Given the description of an element on the screen output the (x, y) to click on. 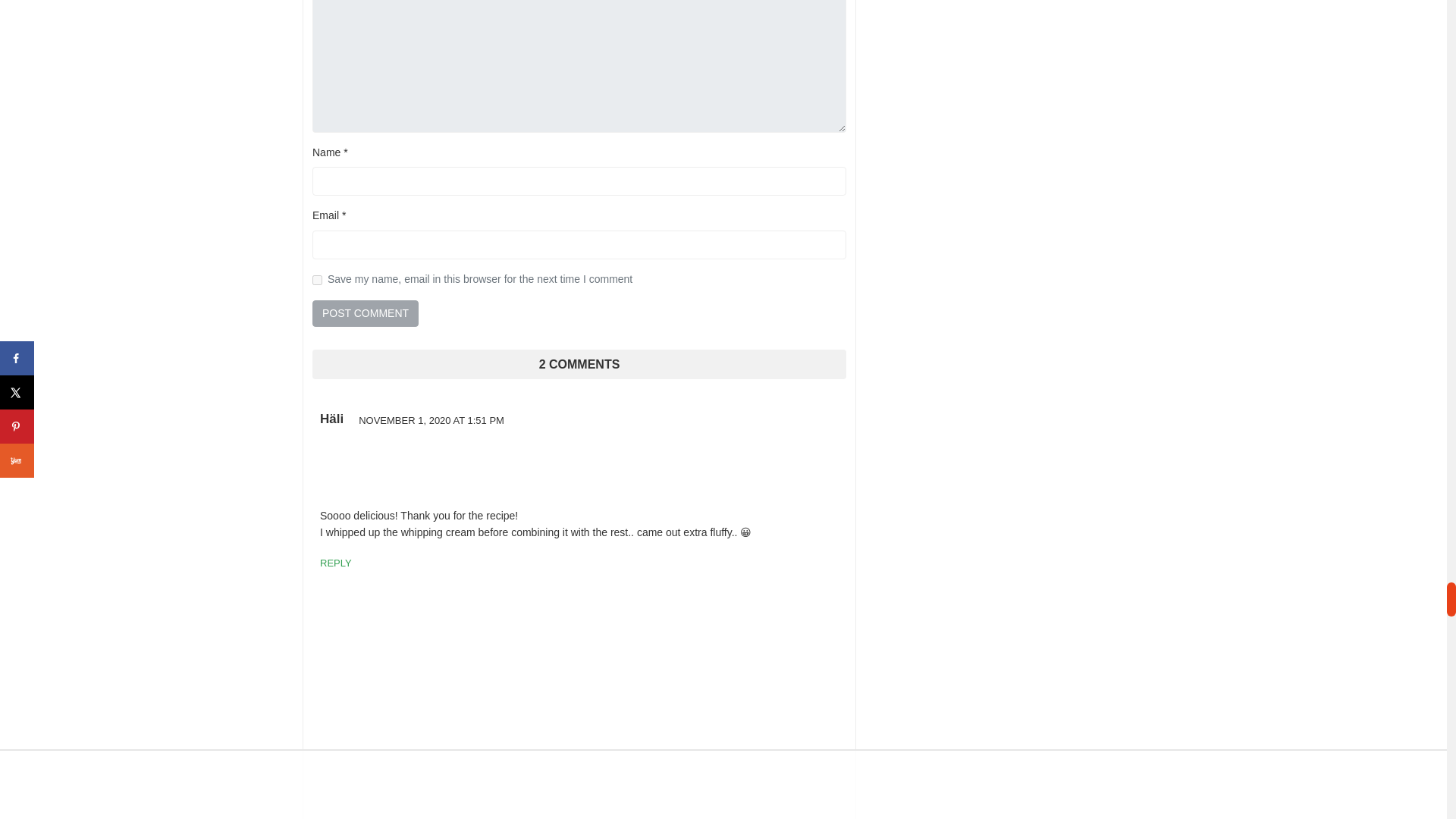
Post Comment (366, 313)
yes (317, 280)
